Given the description of an element on the screen output the (x, y) to click on. 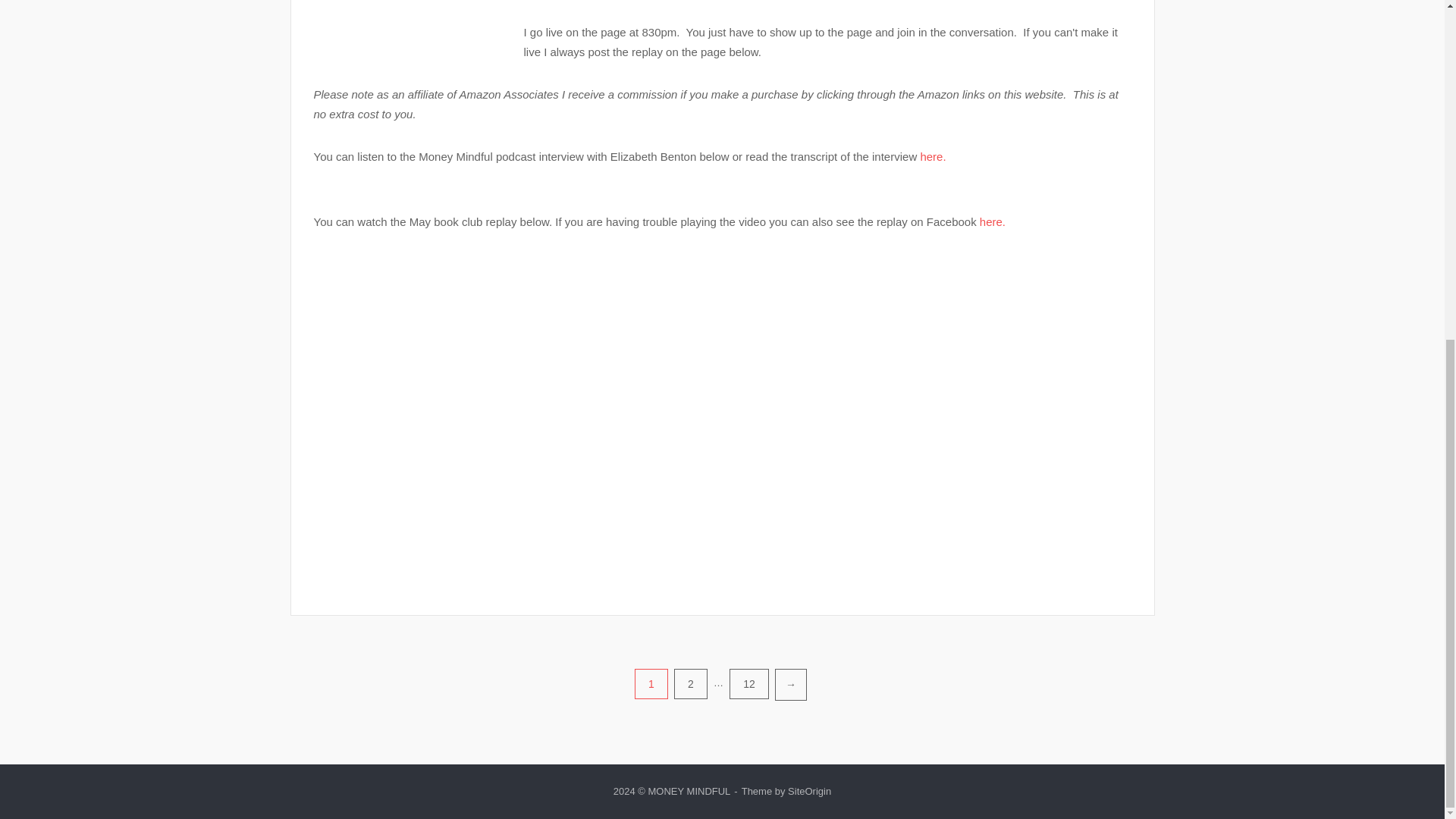
here. (932, 155)
2 (690, 684)
here. (992, 221)
SiteOrigin (809, 790)
12 (748, 684)
